Given the description of an element on the screen output the (x, y) to click on. 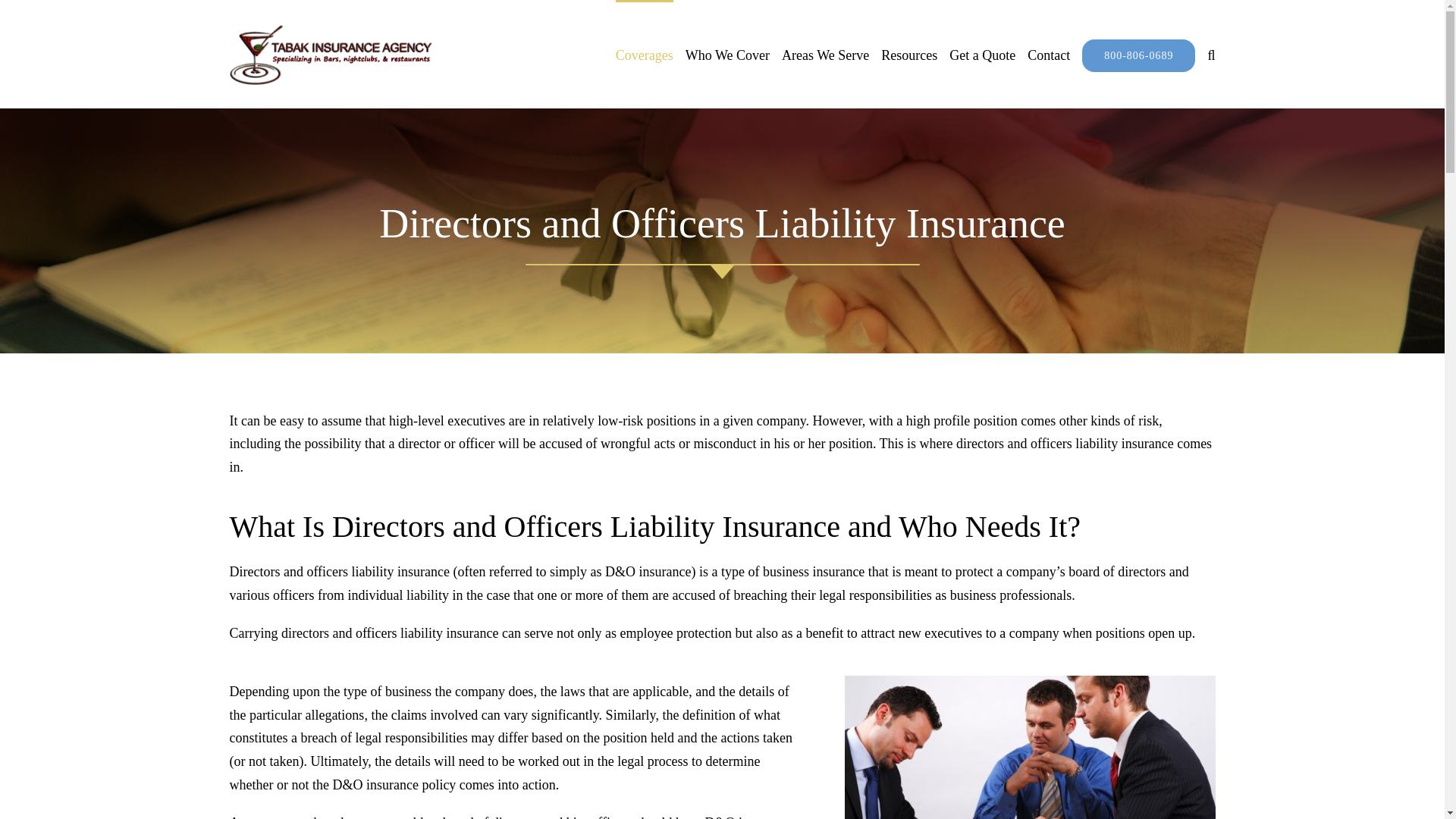
800-806-0689 (1138, 54)
business man signing a contract (1029, 747)
separator-arrow-down (721, 271)
